Given the description of an element on the screen output the (x, y) to click on. 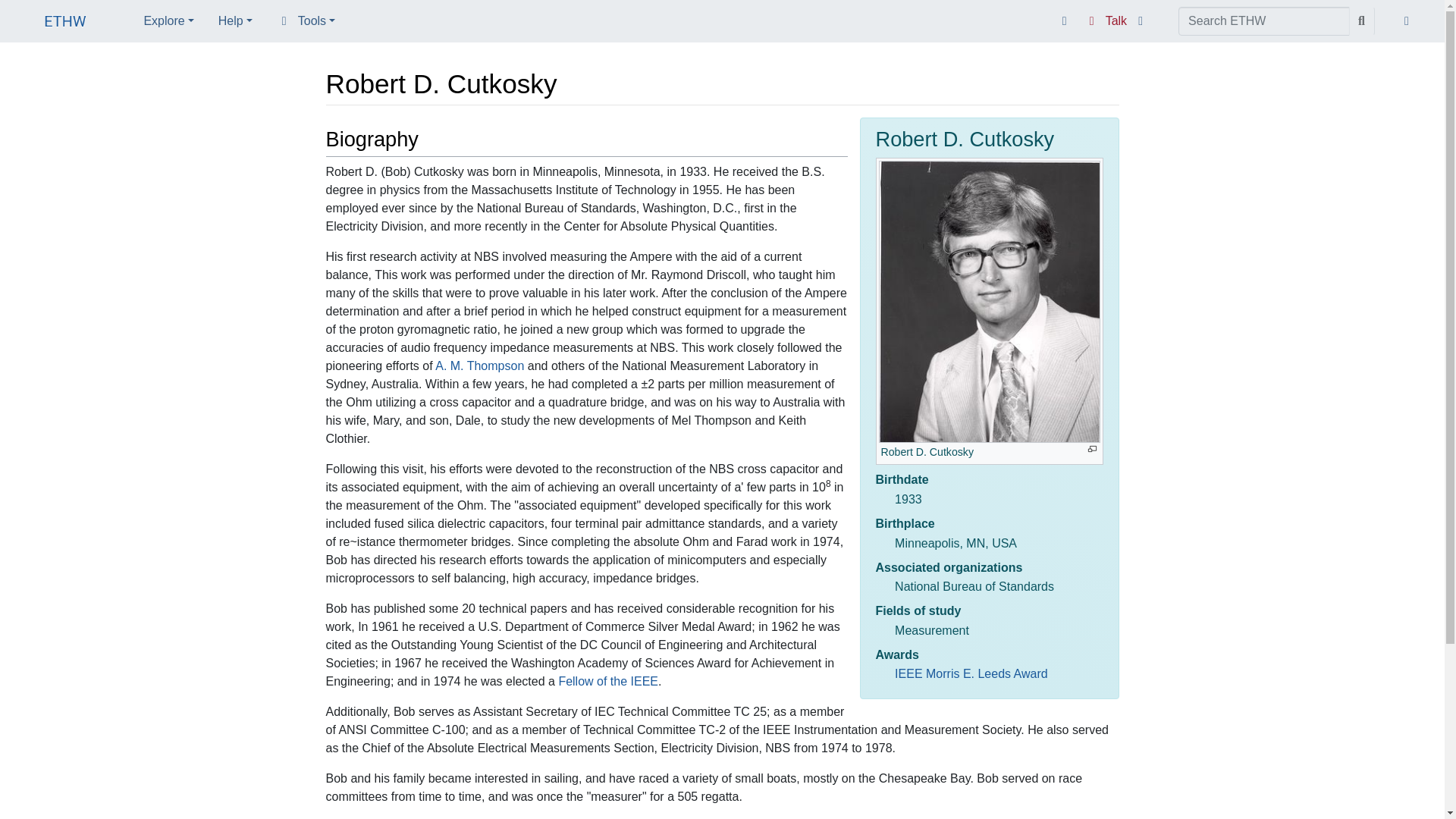
Tools (305, 20)
Go (1361, 21)
Go to a page with this exact name if it exists (1361, 21)
Enlarge (1091, 449)
Explore (168, 20)
IEEE Morris E. Leeds Award (971, 673)
Talk (1105, 21)
Help (235, 20)
Visit the main page (65, 22)
